Given the description of an element on the screen output the (x, y) to click on. 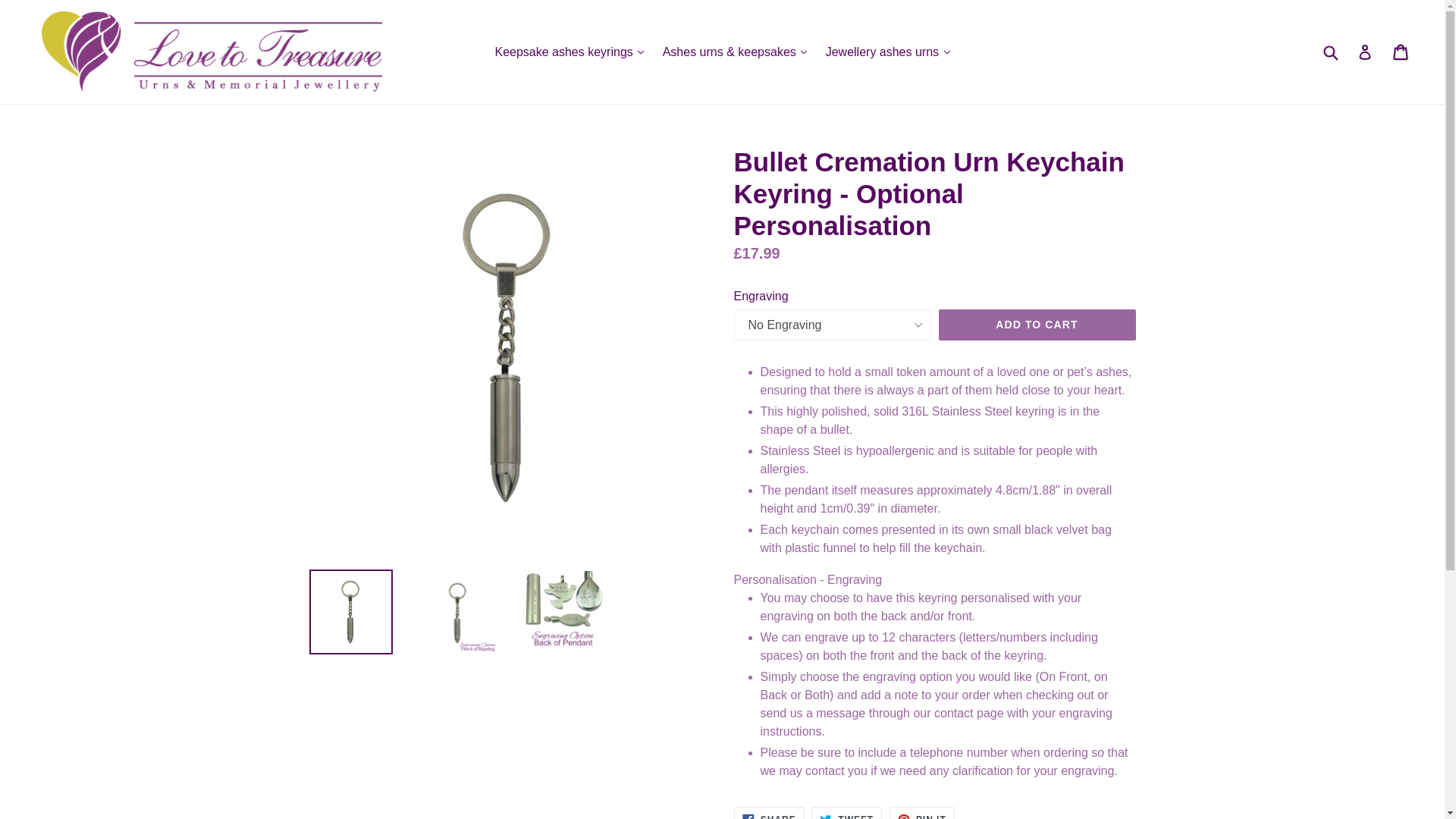
Share on Facebook (769, 812)
Pin on Pinterest (922, 812)
Tweet on Twitter (846, 812)
